Given the description of an element on the screen output the (x, y) to click on. 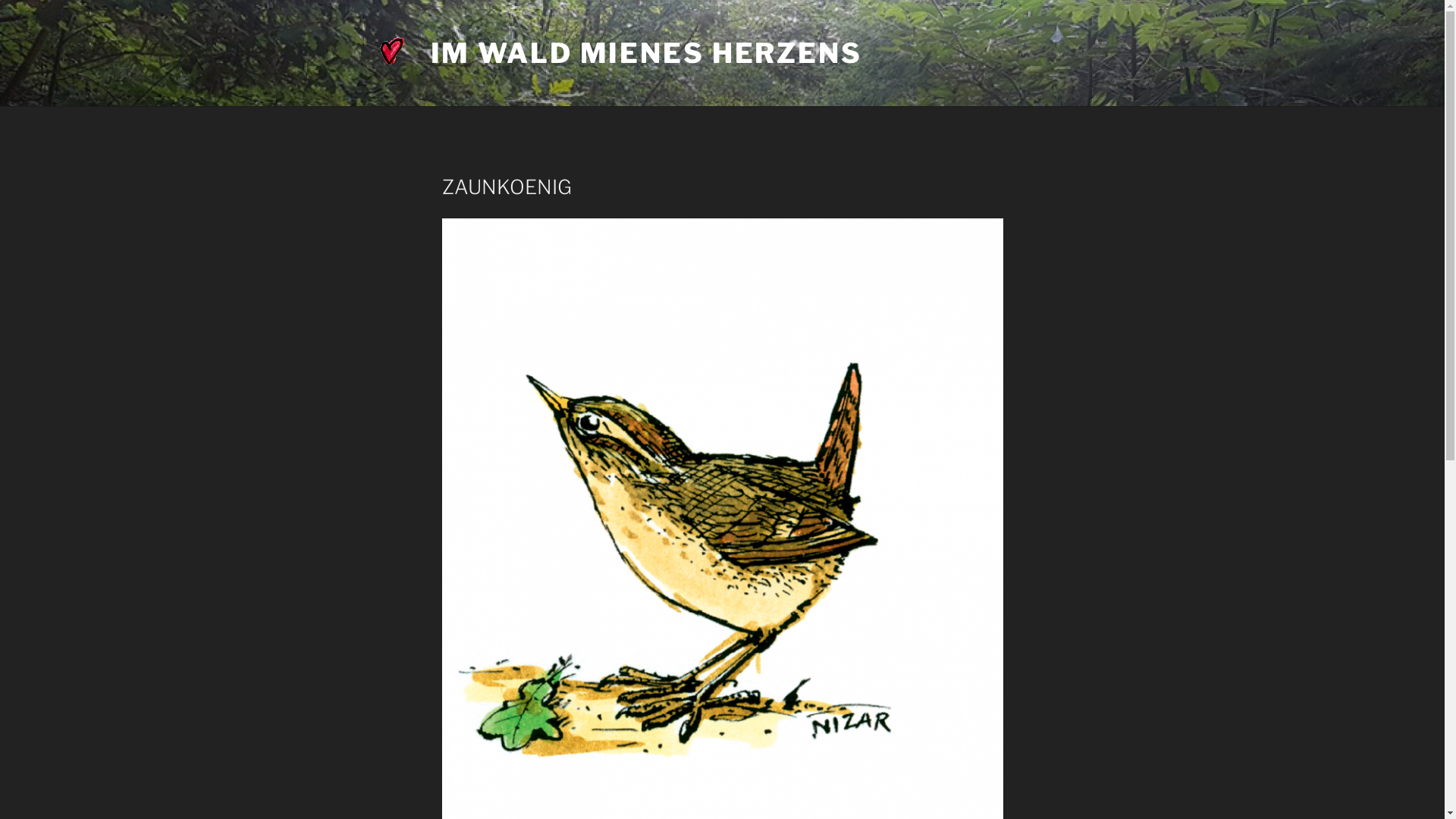
IM WALD MIENES HERZENS Element type: text (646, 52)
